Given the description of an element on the screen output the (x, y) to click on. 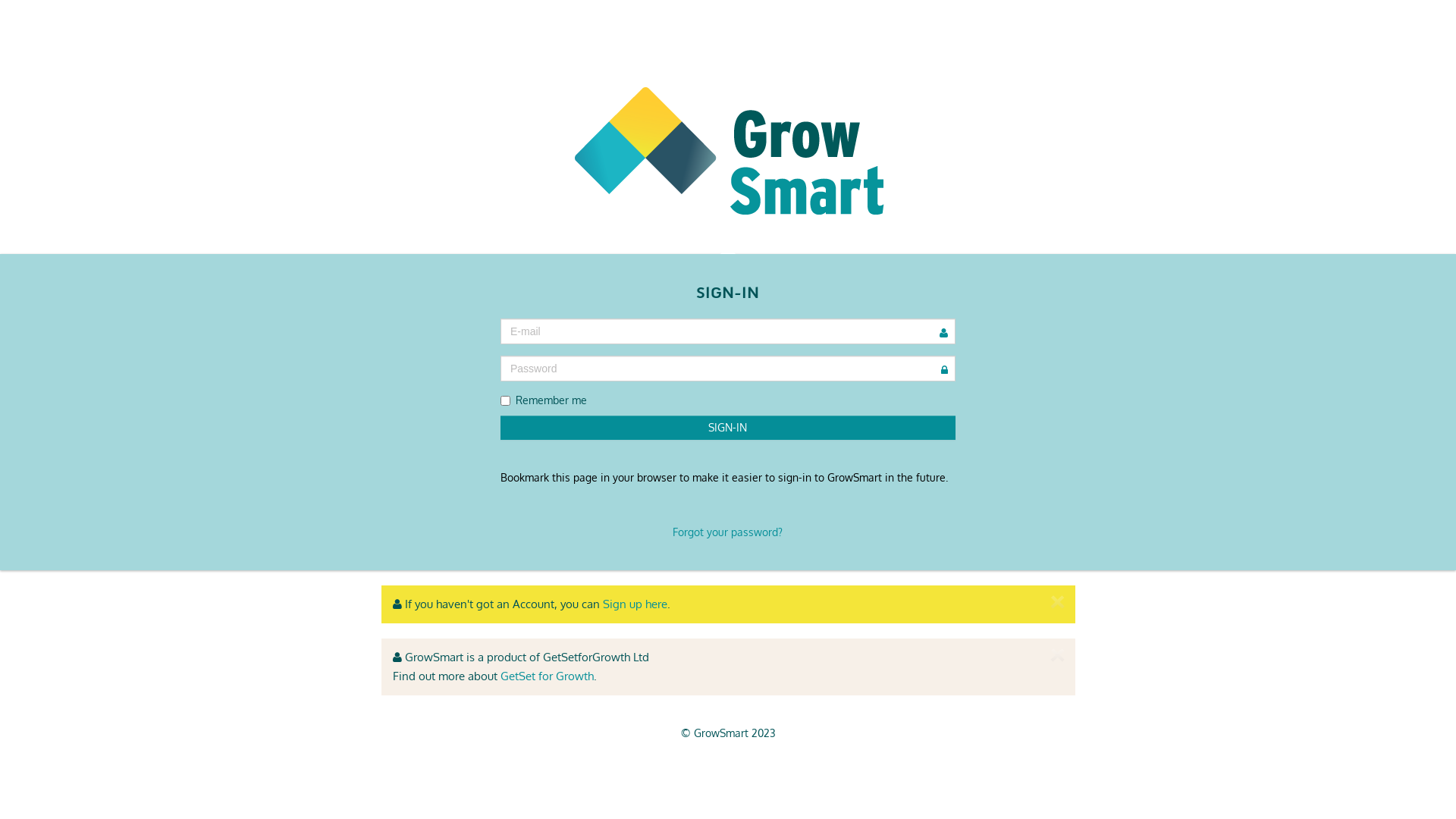
SIGN-IN Element type: text (727, 427)
Sign up here Element type: text (634, 603)
GetSet for Growth Element type: text (546, 675)
Forgot your password? Element type: text (727, 531)
